Given the description of an element on the screen output the (x, y) to click on. 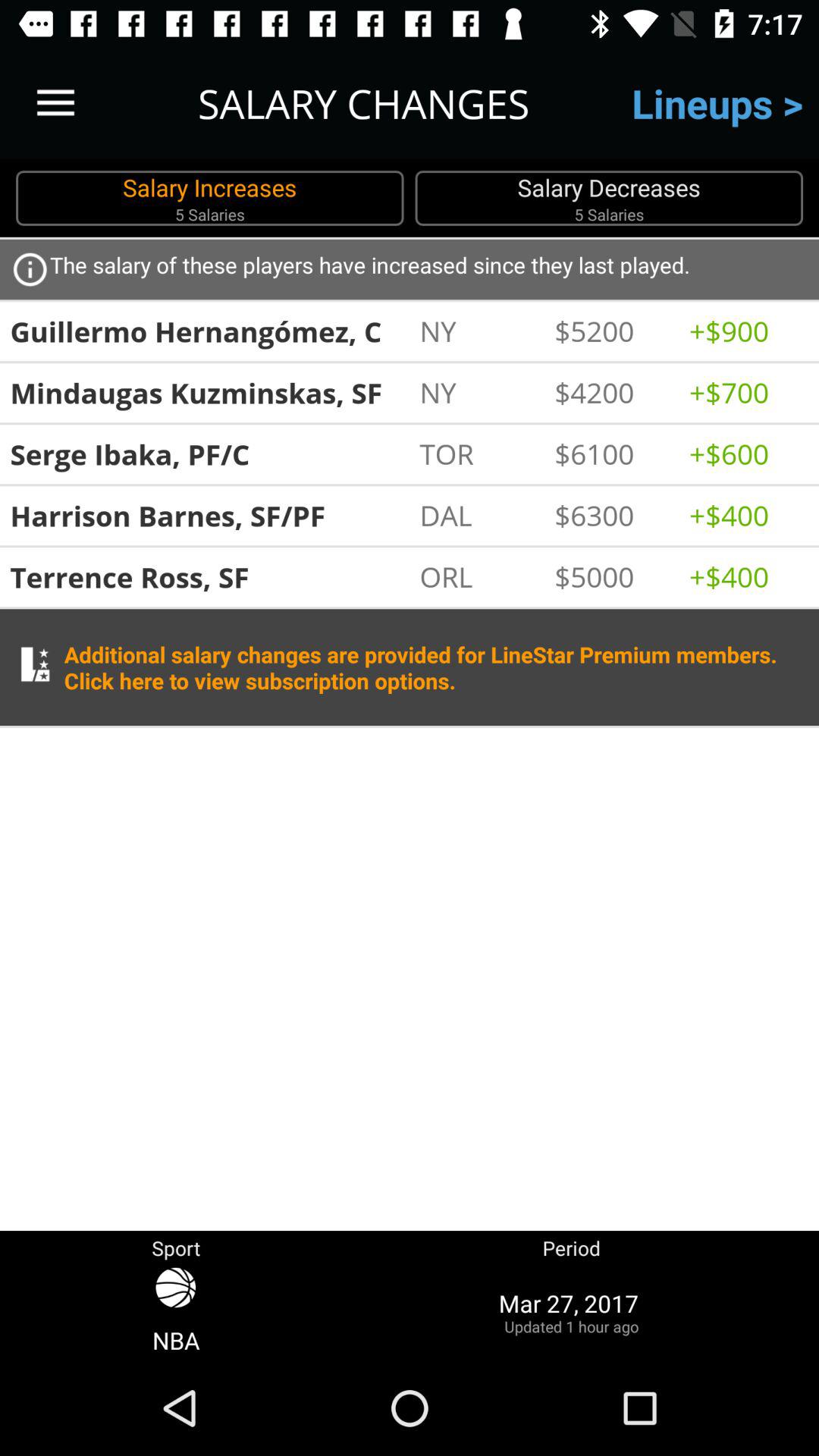
launch the icon next to the $5200 icon (748, 330)
